Given the description of an element on the screen output the (x, y) to click on. 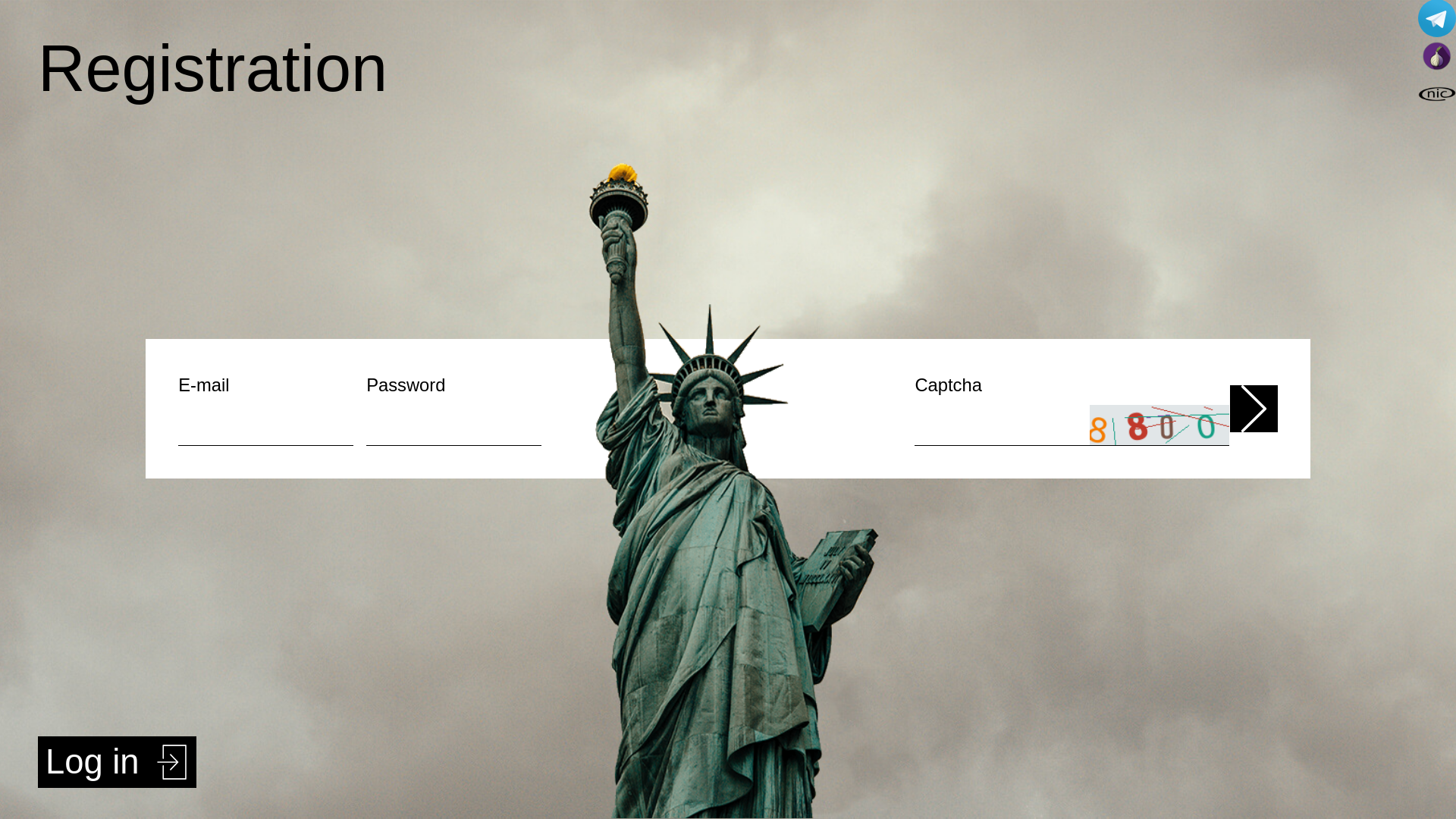
Log in Element type: text (116, 761)
